Given the description of an element on the screen output the (x, y) to click on. 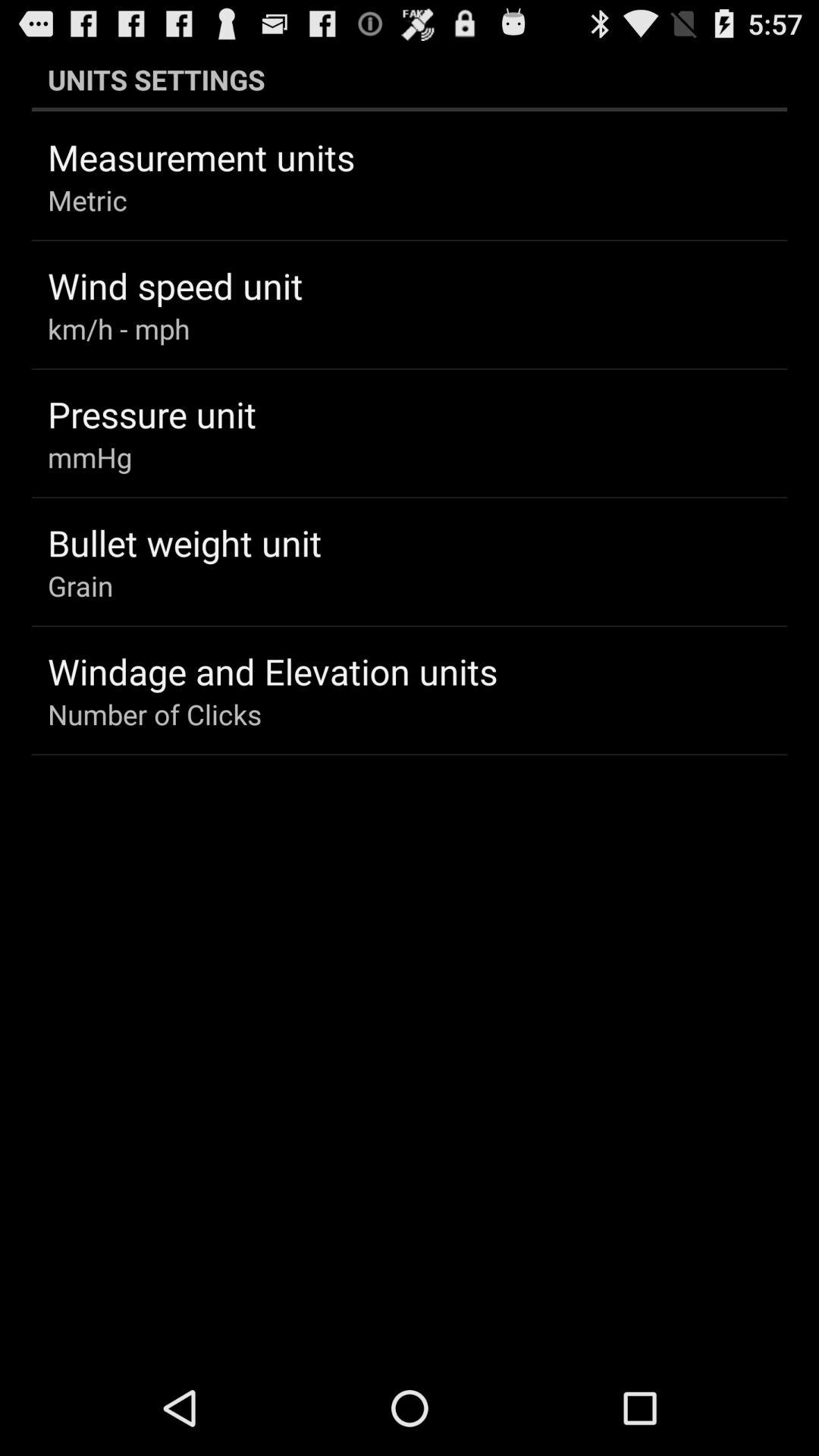
launch the item below the windage and elevation icon (154, 714)
